Given the description of an element on the screen output the (x, y) to click on. 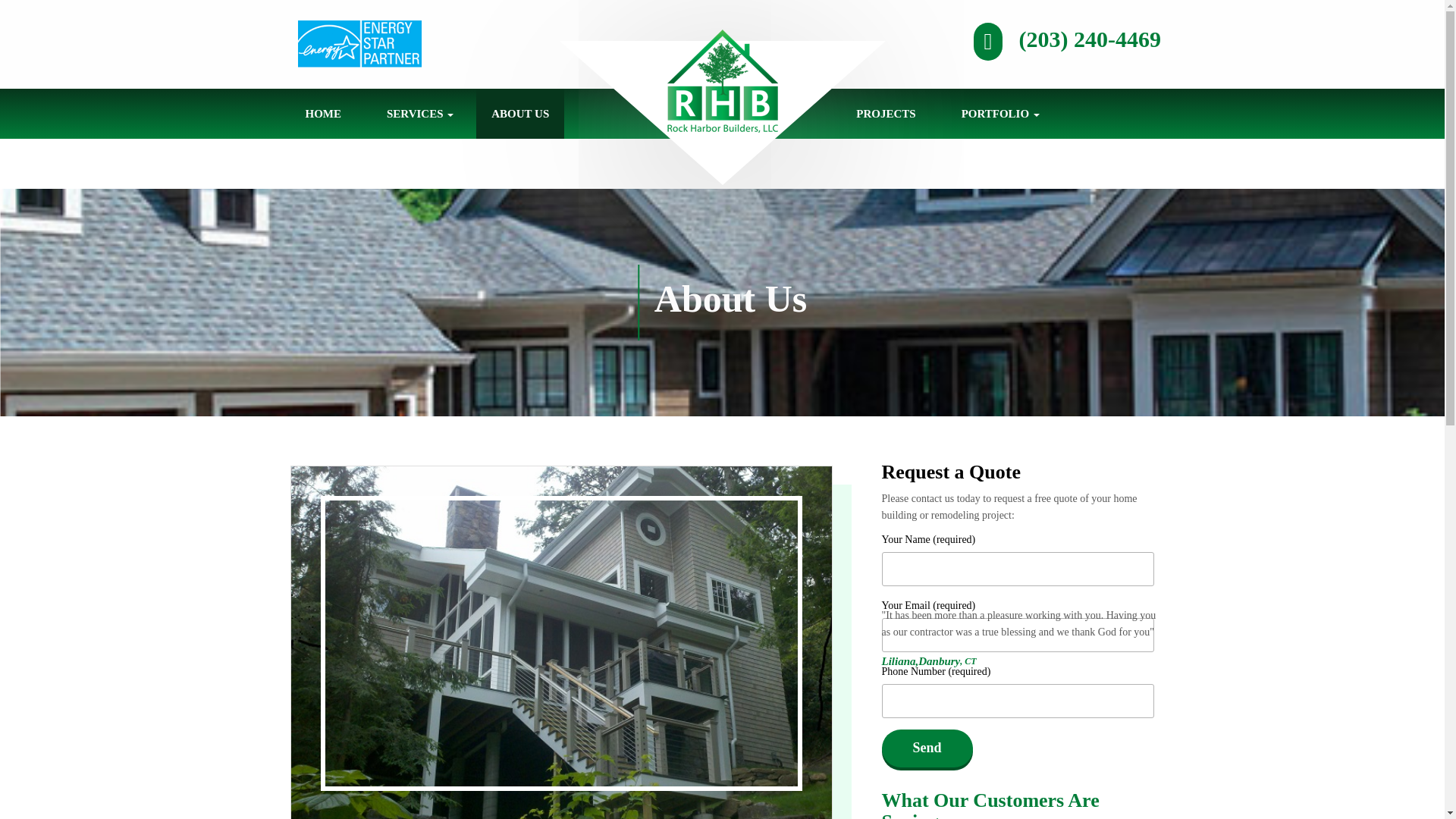
PORTFOLIO (1000, 113)
Projects (885, 113)
Send (926, 748)
Portfolio (1000, 113)
Contact Us (349, 163)
ABOUT US (520, 113)
CONTACT US (349, 163)
Services (419, 113)
Send (926, 748)
About Us (520, 113)
